Given the description of an element on the screen output the (x, y) to click on. 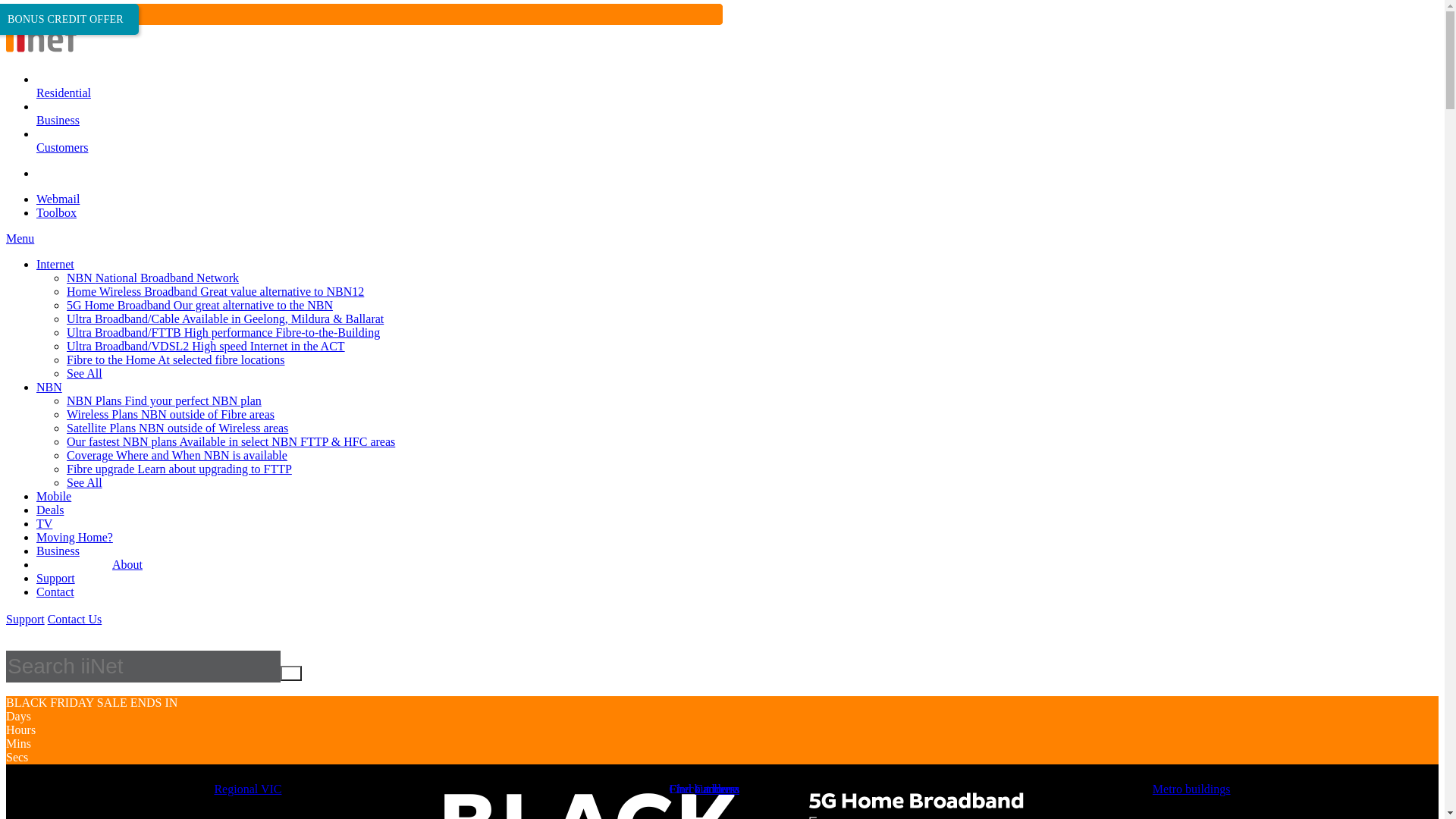
iiNet logo Element type: hover (41, 53)
Home Wireless Broadband Great value alternative to NBN12 Element type: text (215, 291)
About Element type: text (127, 564)
Webmail Element type: text (57, 198)
Support Element type: text (55, 577)
TV Element type: text (44, 523)
See All Element type: text (84, 373)
Ultra Broadband/FTTB High performance Fibre-to-the-Building Element type: text (222, 332)
Fibre to the Home At selected fibre locations Element type: text (175, 359)
NBN Plans Find your perfect NBN plan Element type: text (163, 400)
Customers Element type: text (61, 154)
5G Home Broadband Our great alternative to the NBN Element type: text (199, 304)
Business Element type: text (57, 126)
NBN National Broadband Network Element type: text (152, 277)
Support Element type: text (25, 619)
Moving Home? Element type: text (74, 536)
NBN Element type: text (49, 386)
Contact Us Element type: text (74, 619)
Ultra Broadband/VDSL2 High speed Internet in the ACT Element type: text (205, 345)
See All Element type: text (84, 482)
Skip to main content Element type: text (56, 12)
Search the page Element type: hover (143, 666)
Coverage Where and When NBN is available Element type: text (176, 454)
Business Element type: text (57, 550)
Regional VIC Element type: text (247, 789)
Search Element type: hover (290, 672)
Deals Element type: text (49, 509)
Residential Element type: text (63, 99)
Toolbox Element type: text (56, 212)
Mobile Element type: text (53, 495)
Internet Element type: text (55, 263)
Metro buildings Element type: text (1191, 789)
Satellite Plans NBN outside of Wireless areas Element type: text (177, 427)
Canberra Element type: text (716, 789)
Wireless Plans NBN outside of Fibre areas Element type: text (170, 413)
Contact Element type: text (55, 591)
Fibre upgrade Learn about upgrading to FTTP Element type: text (178, 468)
Menu Element type: text (20, 238)
